Given the description of an element on the screen output the (x, y) to click on. 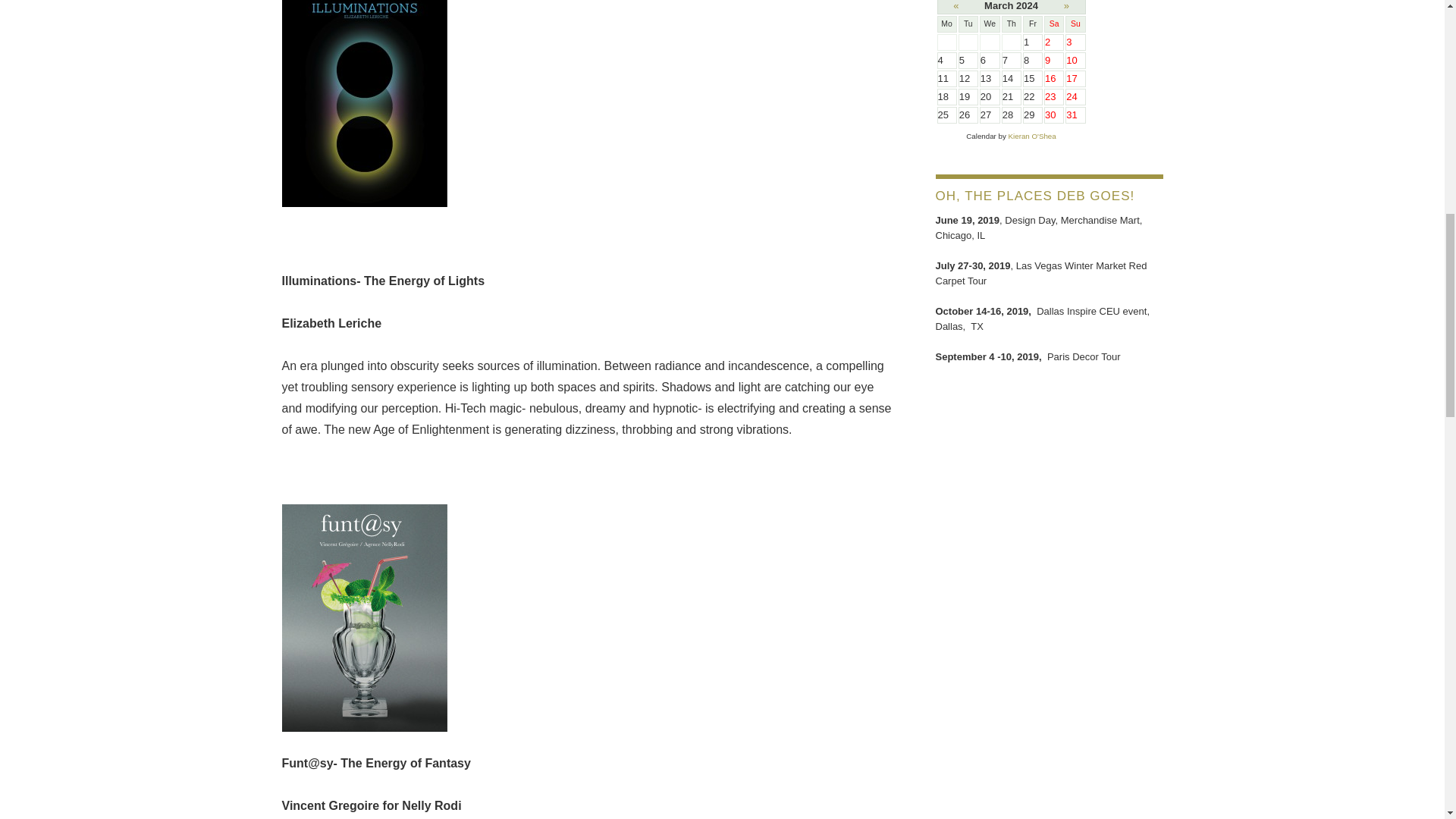
Kieran O'Shea (1033, 135)
